Given the description of an element on the screen output the (x, y) to click on. 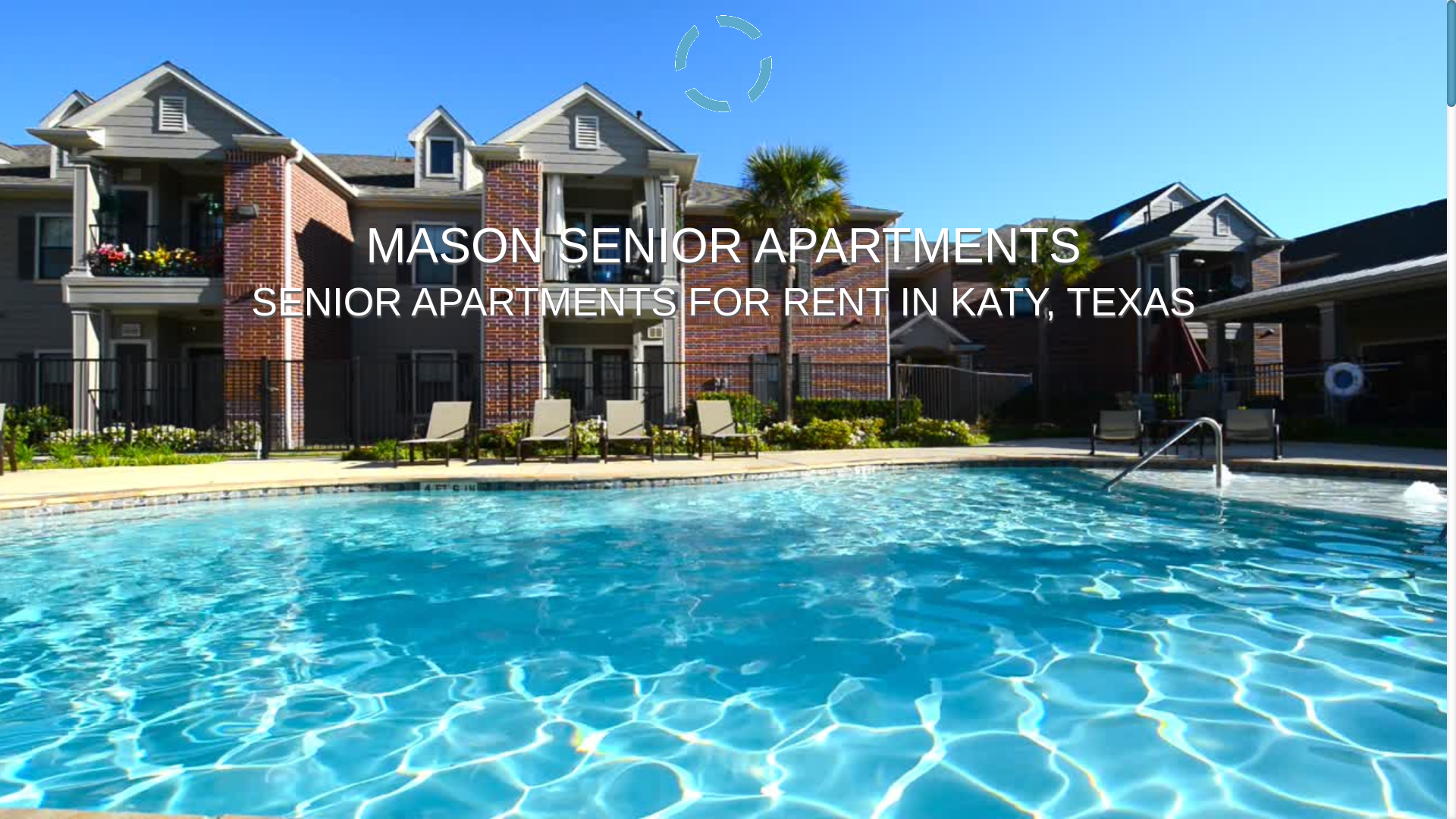
Residents (1115, 51)
Amenities (810, 51)
Neighborhood (971, 51)
Floor Plans (885, 51)
Home (749, 51)
Amenities (810, 51)
Floor Plans (885, 51)
Resident Portal (1115, 51)
Home (749, 51)
Mason Senior Apartments (395, 49)
